Given the description of an element on the screen output the (x, y) to click on. 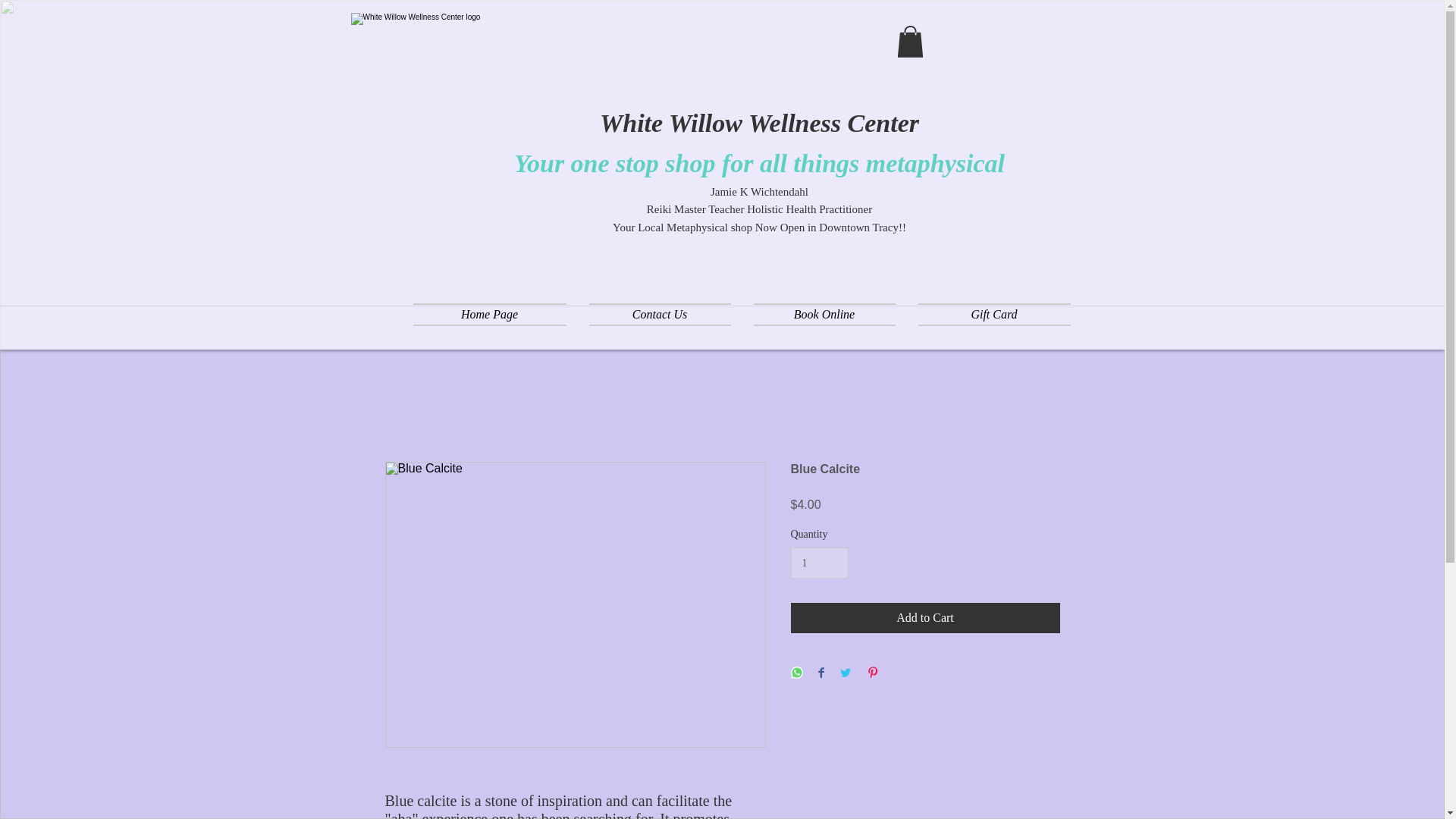
Logo  (416, 79)
1 (818, 562)
Gift Card (988, 314)
Contact Us (660, 314)
Book Online (823, 314)
Add to Cart (924, 617)
Home Page (494, 314)
